Given the description of an element on the screen output the (x, y) to click on. 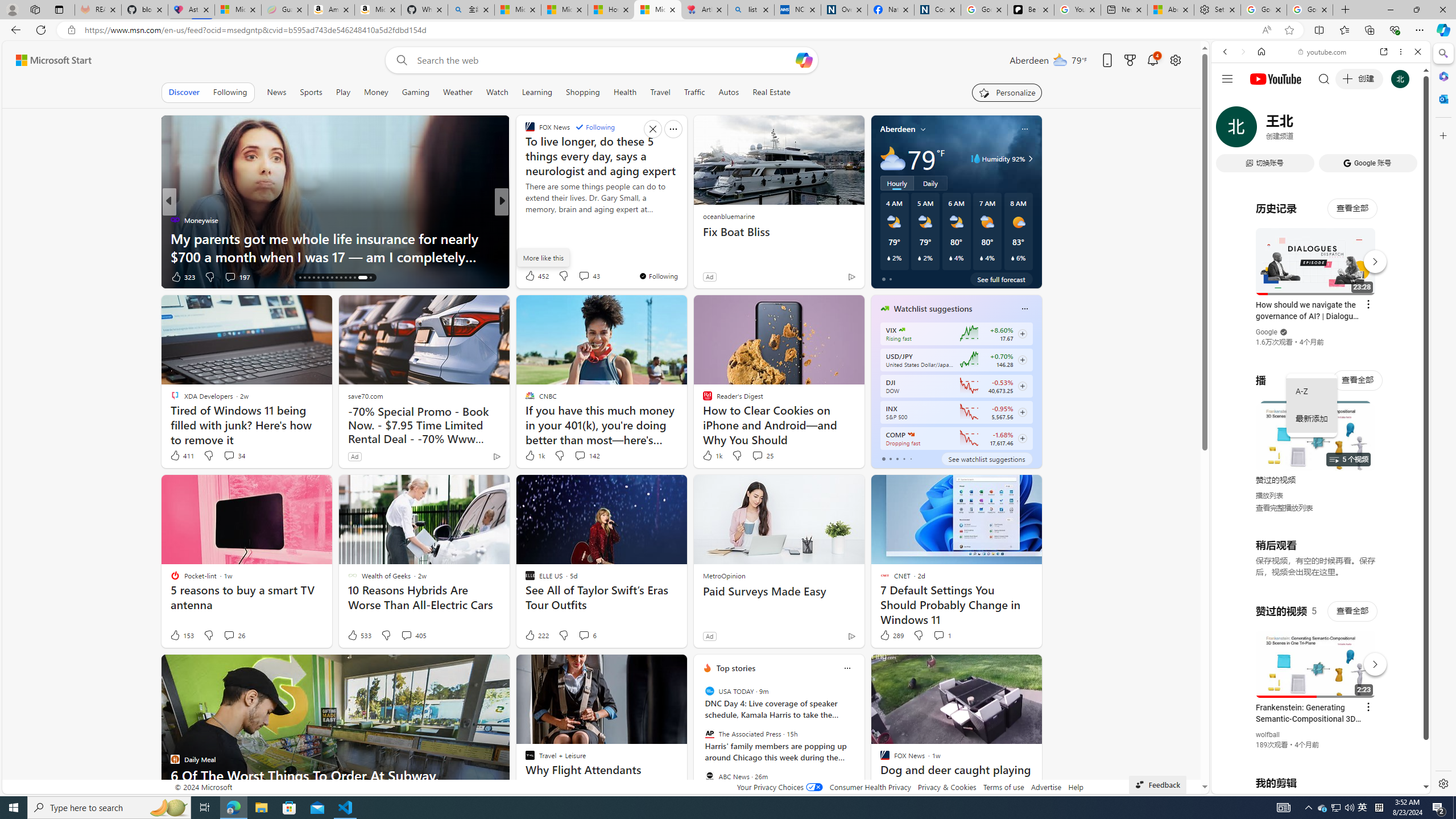
Music (1320, 309)
View comments 197 Comment (236, 276)
Fix Boat Bliss (778, 232)
Autos (729, 92)
Gaming (415, 92)
View comments 43 Comment (583, 275)
Hide this story (1007, 668)
Your Privacy Choices (779, 786)
